Given the description of an element on the screen output the (x, y) to click on. 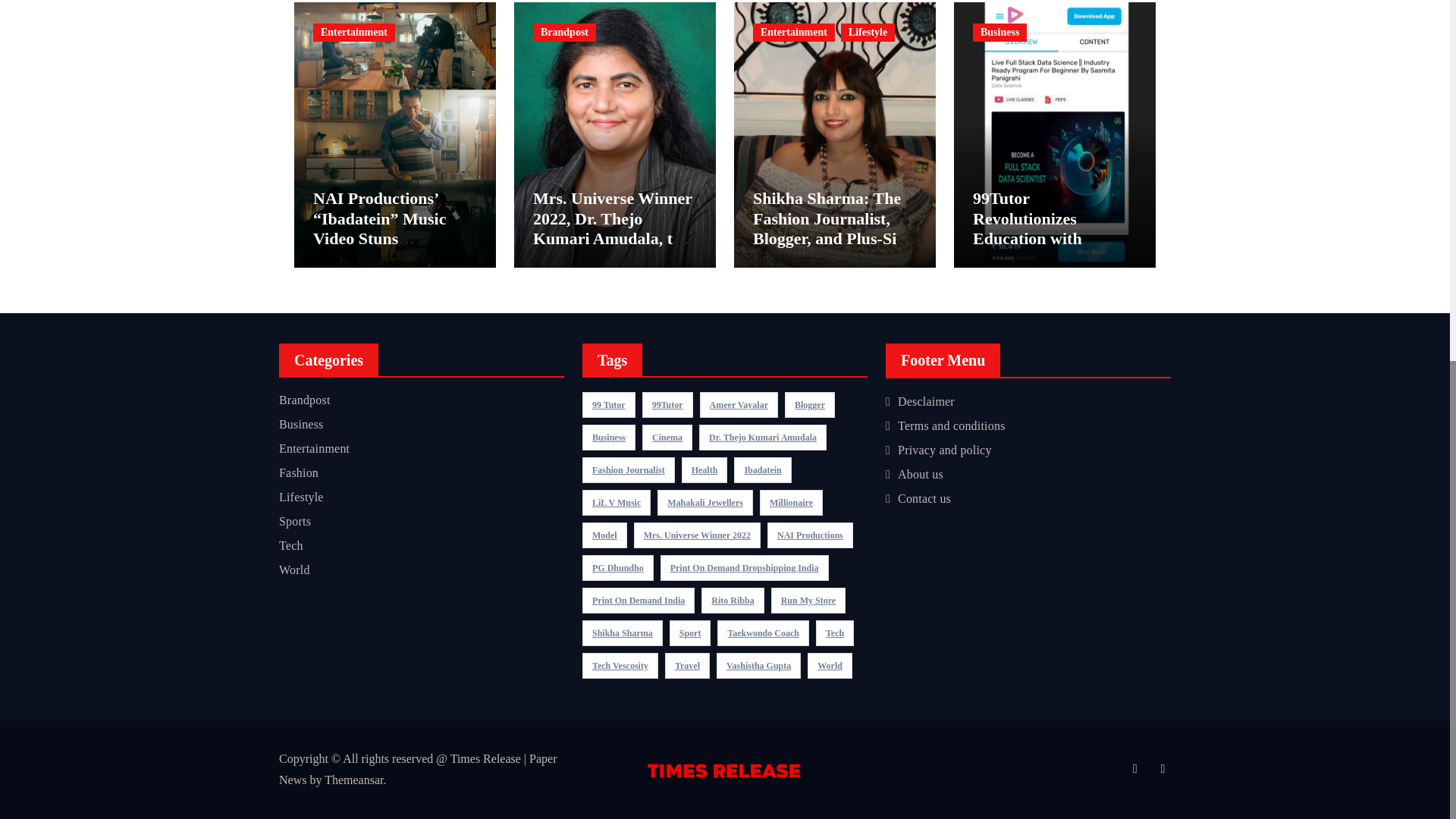
Brandpost (563, 32)
Entertainment (793, 32)
Entertainment (353, 32)
Lifestyle (868, 32)
